Given the description of an element on the screen output the (x, y) to click on. 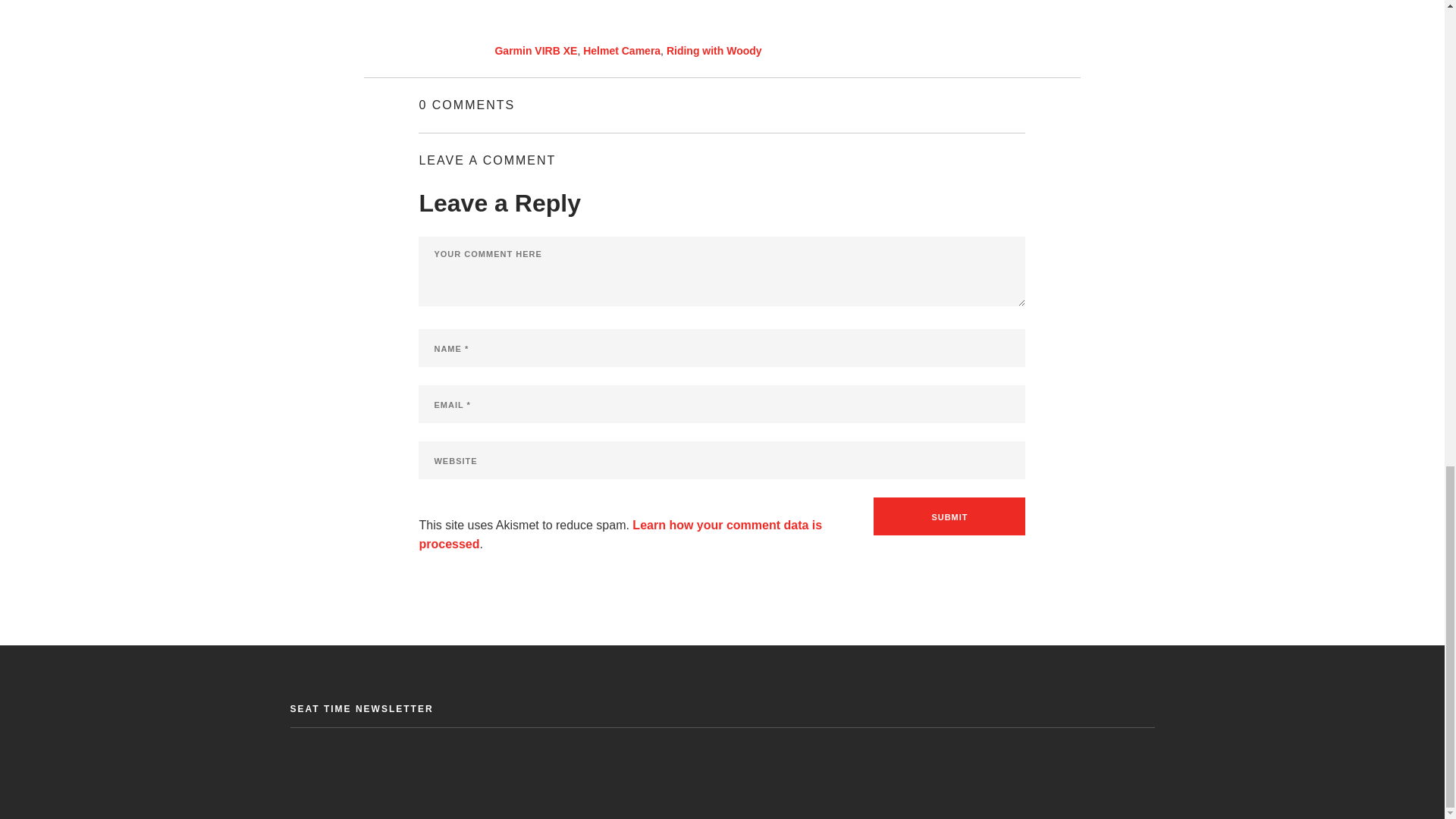
Helmet Camera (622, 50)
Garmin VIRB XE (535, 50)
Submit (949, 516)
Learn how your comment data is processed (620, 534)
Riding with Woody (713, 50)
Submit (949, 516)
